Given the description of an element on the screen output the (x, y) to click on. 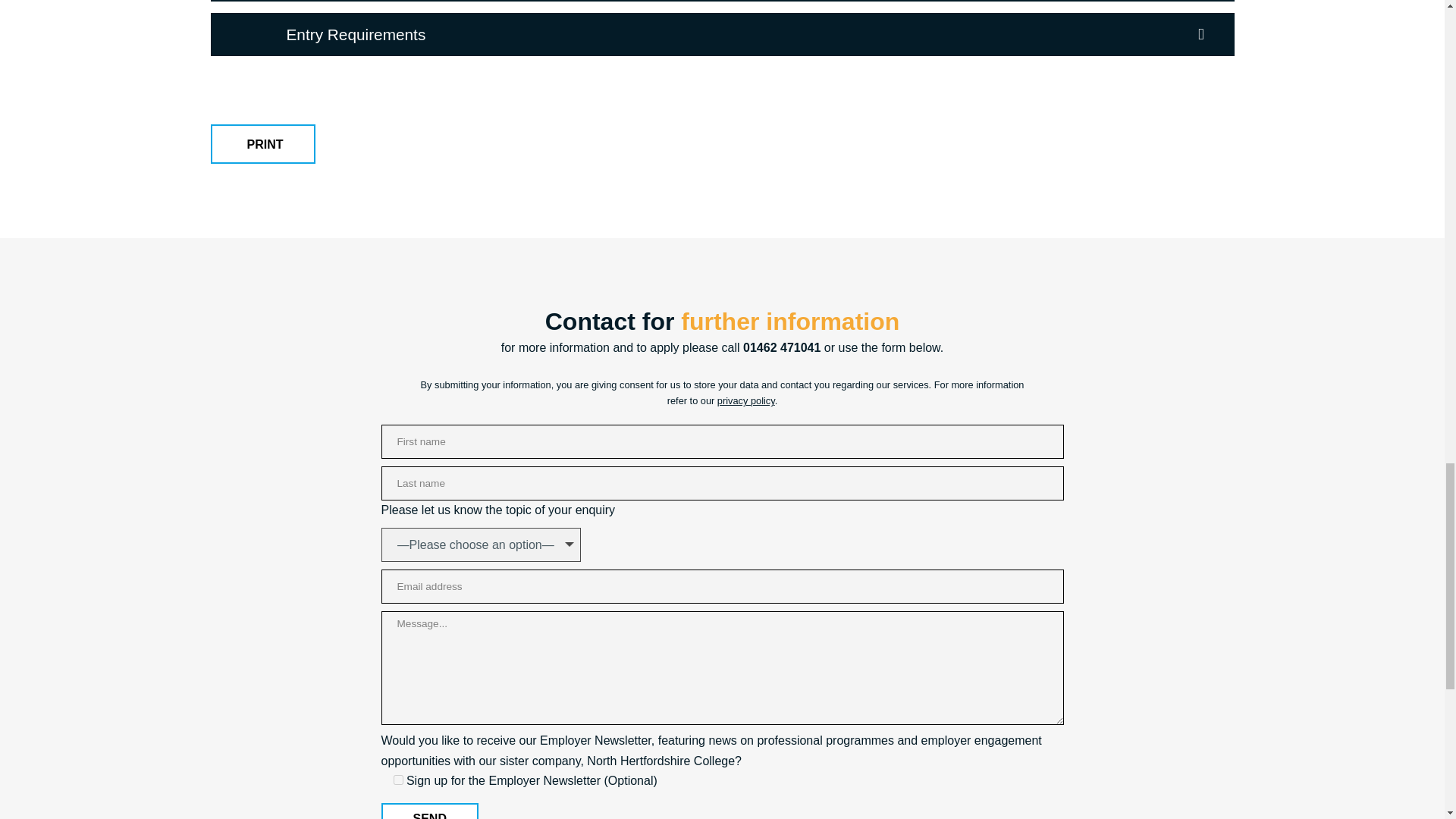
privacy policy (745, 400)
Send (428, 811)
1 (398, 779)
Send (428, 811)
PRINT (263, 143)
